Given the description of an element on the screen output the (x, y) to click on. 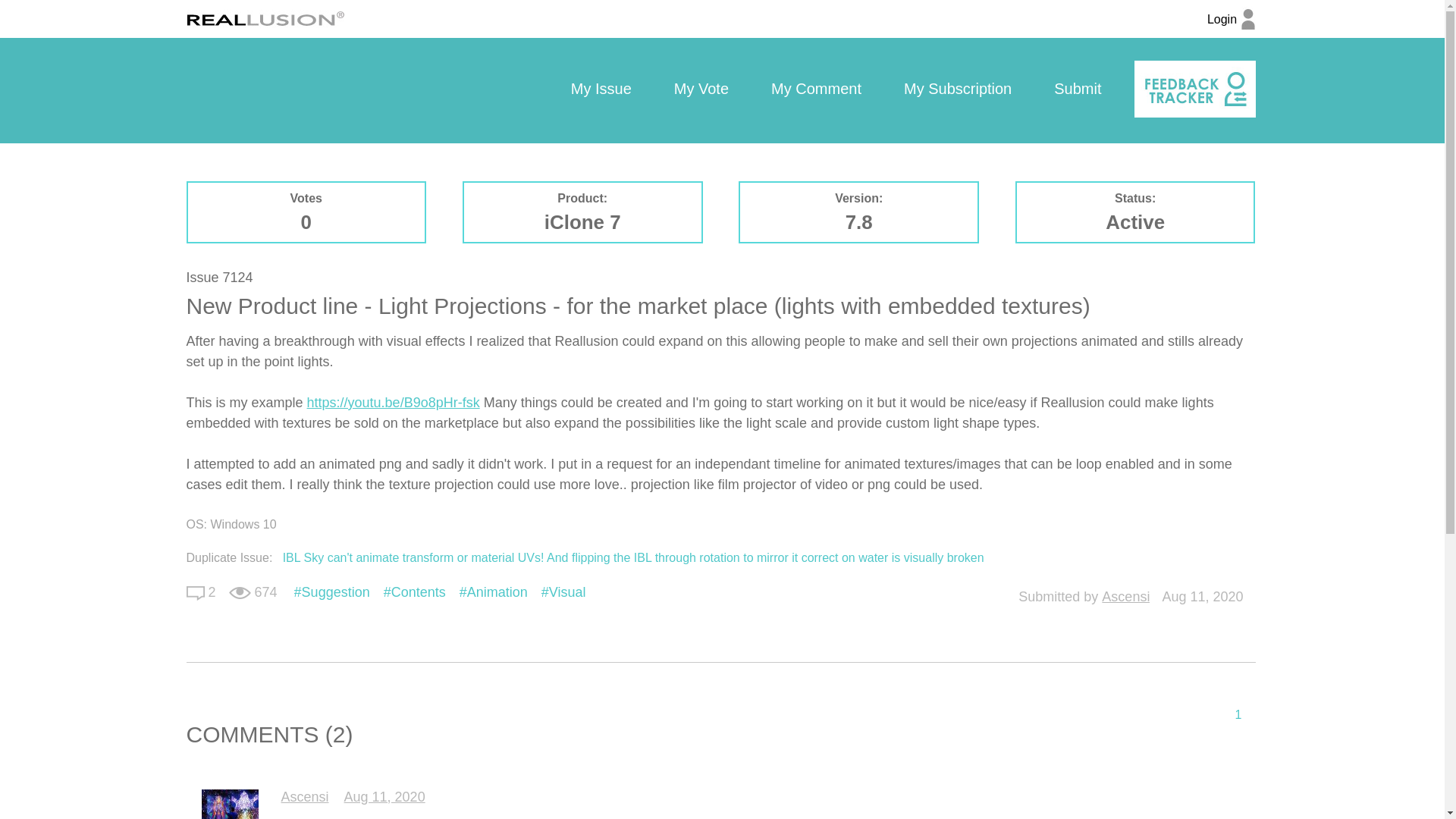
Animation (493, 591)
Comments (195, 592)
Reallusion (266, 18)
My Issue (601, 89)
My Vote (700, 89)
My Comment (815, 89)
My Subscription (957, 89)
Views (239, 592)
Contents (414, 591)
Suggestion (331, 591)
